Given the description of an element on the screen output the (x, y) to click on. 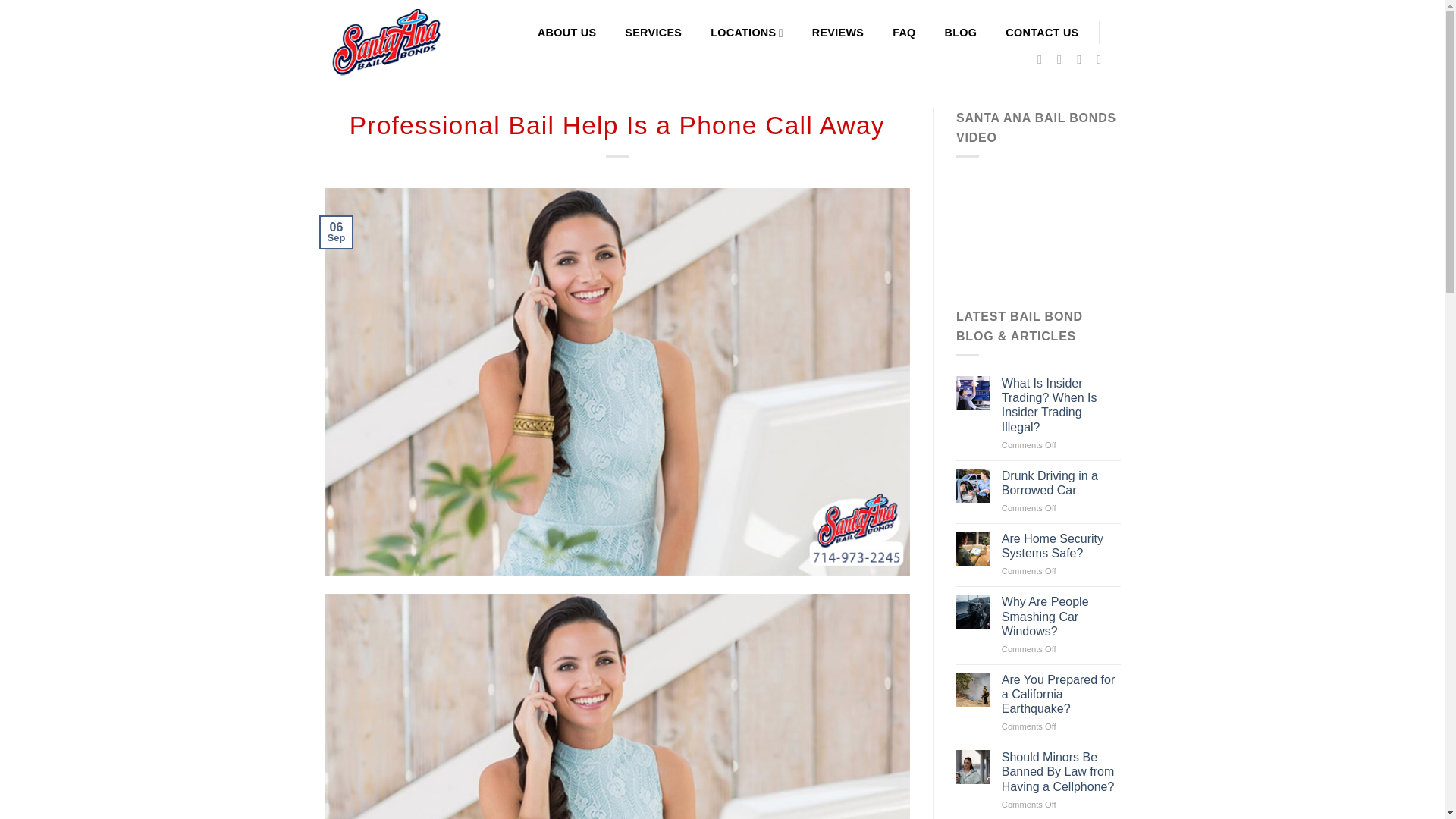
Follow on Instagram (1062, 59)
REVIEWS (837, 32)
LOCATIONS (746, 32)
Follow on Twitter (1083, 59)
ABOUT US (566, 32)
CONTACT US (1042, 32)
BLOG (960, 32)
SERVICES (652, 32)
What Is Insider Trading? When Is Insider Trading Illegal? (1061, 404)
